Given the description of an element on the screen output the (x, y) to click on. 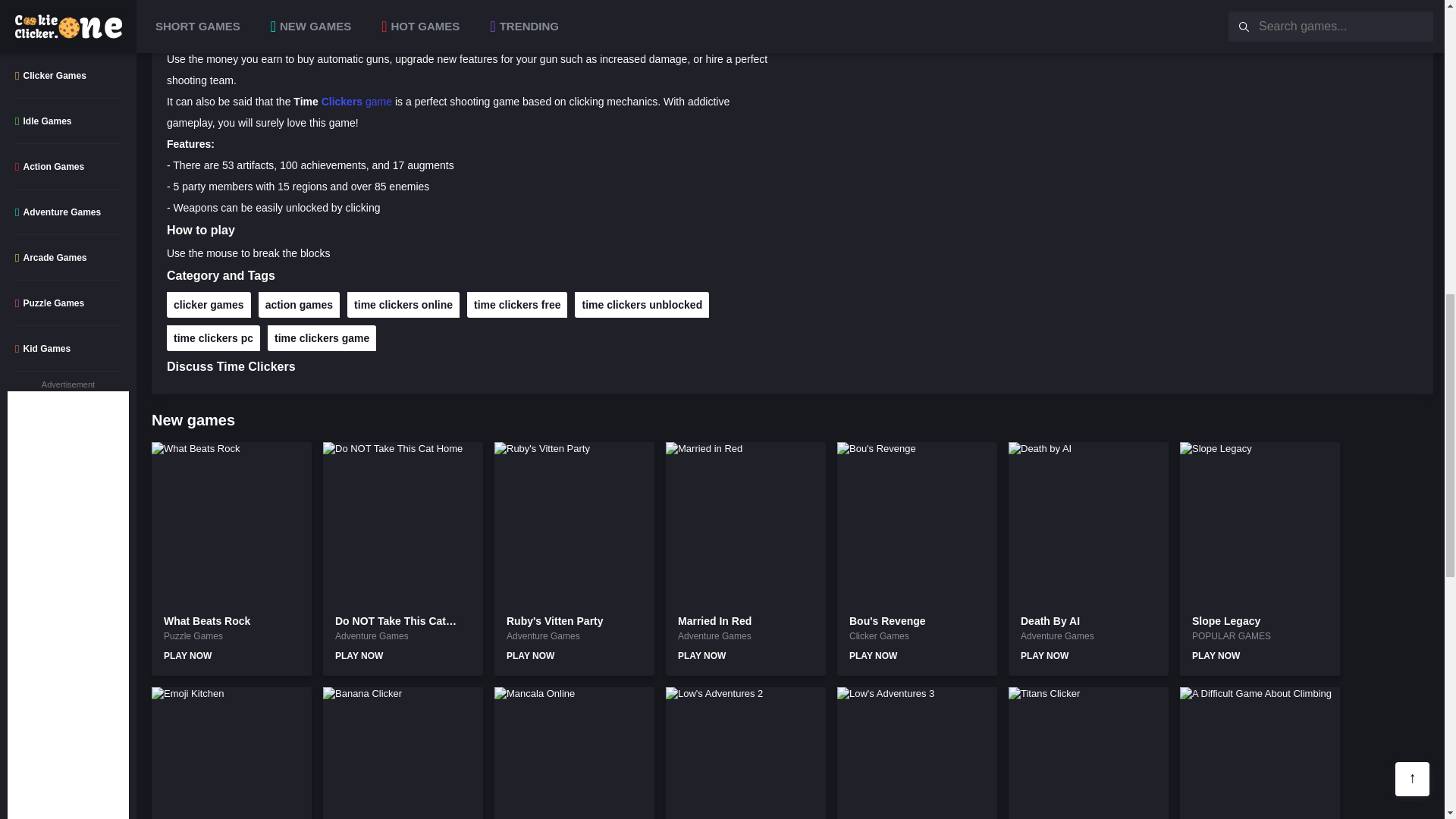
game (376, 101)
clicker games (208, 304)
Clickers (341, 101)
